Given the description of an element on the screen output the (x, y) to click on. 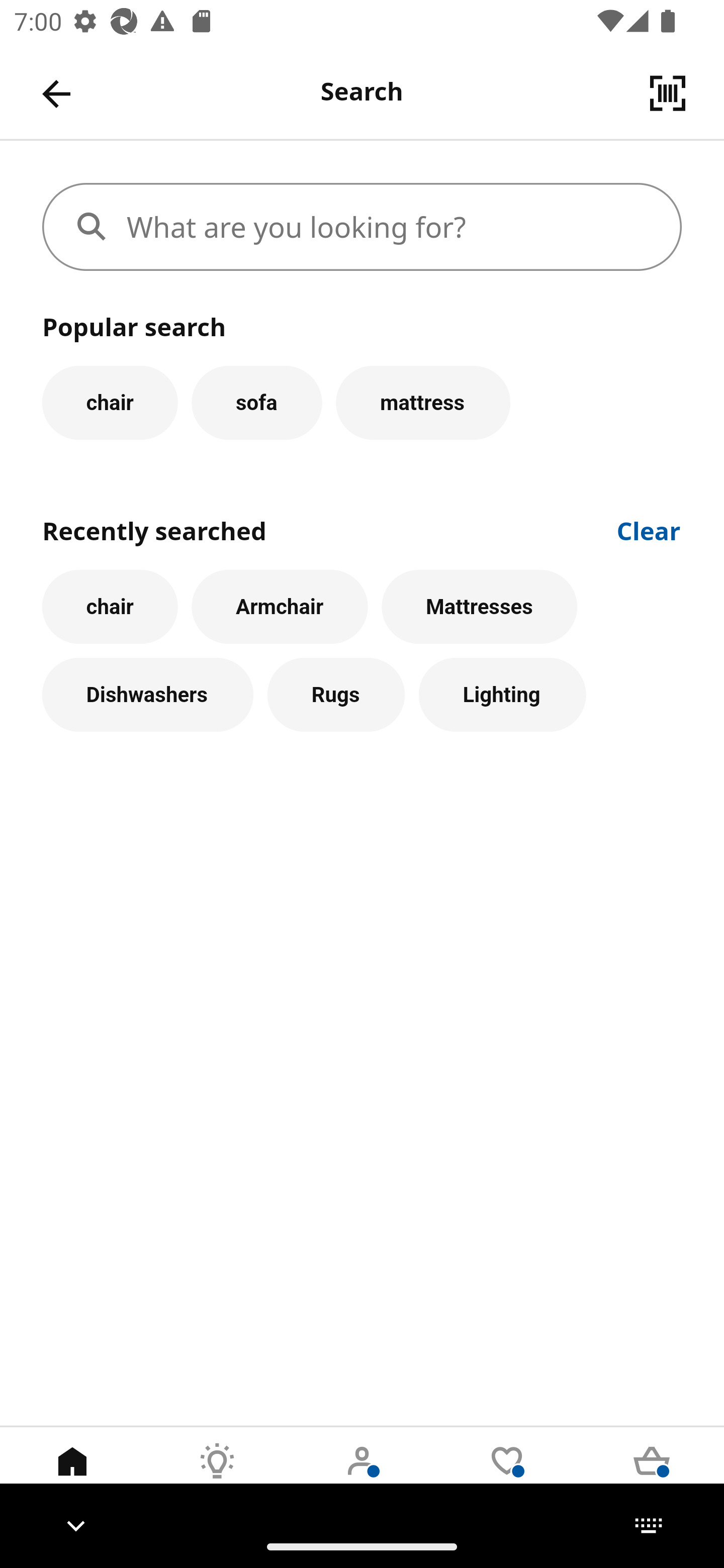
chair (109, 402)
sofa (256, 402)
mattress (423, 402)
Clear (649, 528)
chair (109, 606)
Armchair (279, 606)
Mattresses (479, 606)
Dishwashers (147, 695)
Rugs (335, 695)
Lighting (502, 695)
Home
Tab 1 of 5 (72, 1476)
Inspirations
Tab 2 of 5 (216, 1476)
User
Tab 3 of 5 (361, 1476)
Wishlist
Tab 4 of 5 (506, 1476)
Cart
Tab 5 of 5 (651, 1476)
